Given the description of an element on the screen output the (x, y) to click on. 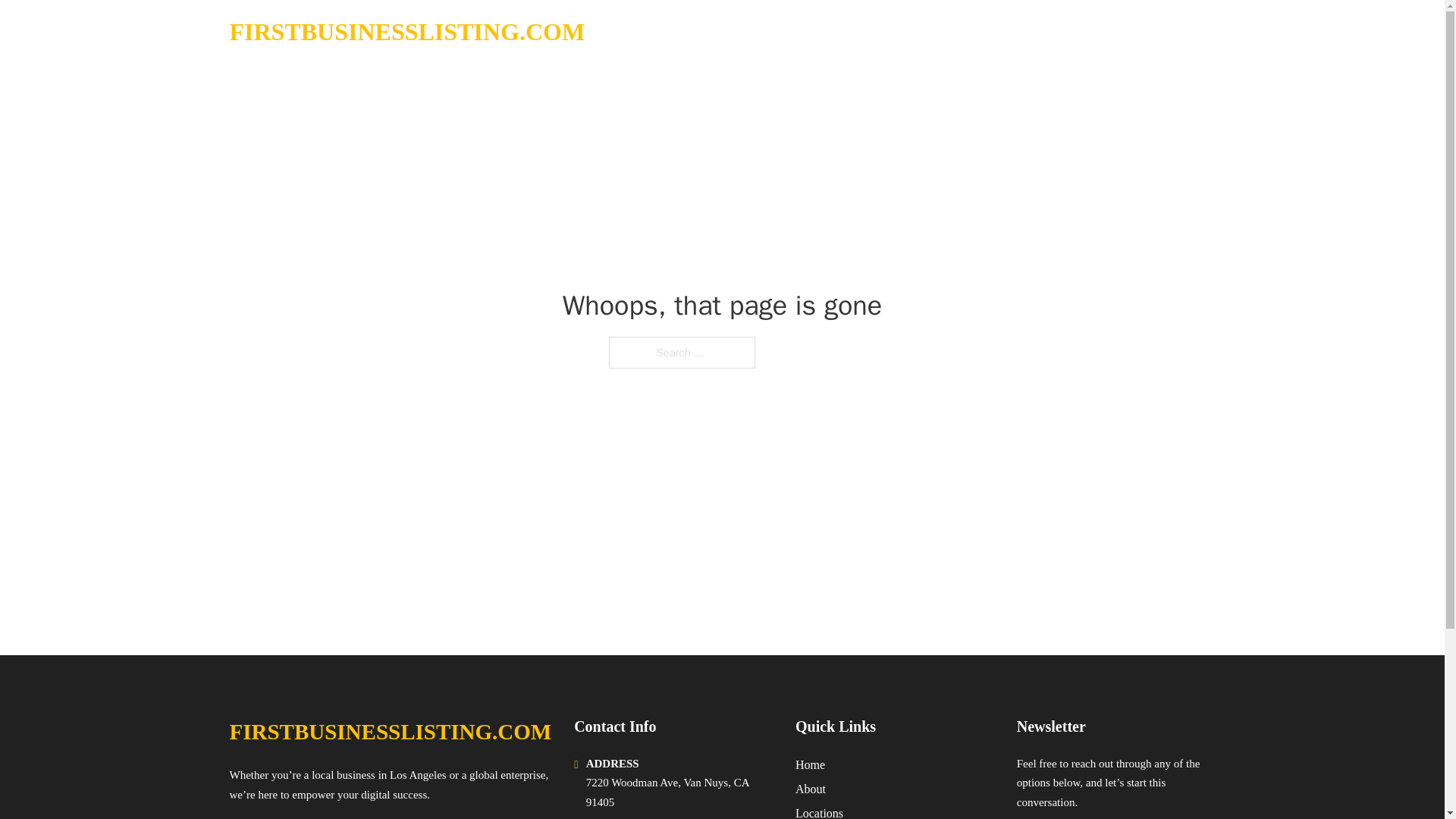
FIRSTBUSINESSLISTING.COM (406, 31)
LOCATIONS (1098, 31)
HOME (1025, 31)
Locations (818, 811)
About (809, 788)
Home (809, 764)
FIRSTBUSINESSLISTING.COM (389, 732)
